Given the description of an element on the screen output the (x, y) to click on. 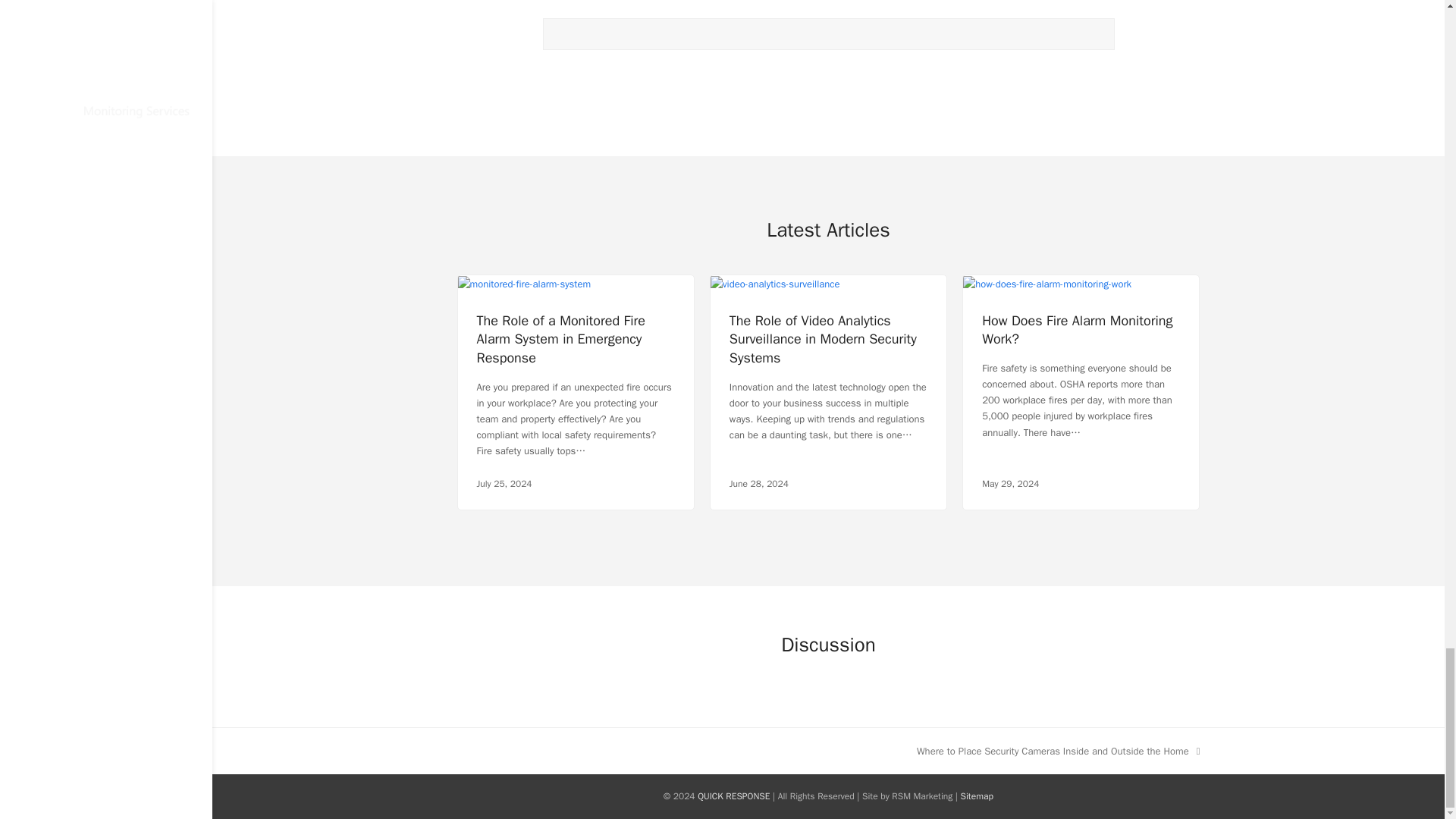
QUICK RESPONSE (733, 796)
Sitemap (976, 796)
How Does Fire Alarm Monitoring Work? (1076, 330)
